Given the description of an element on the screen output the (x, y) to click on. 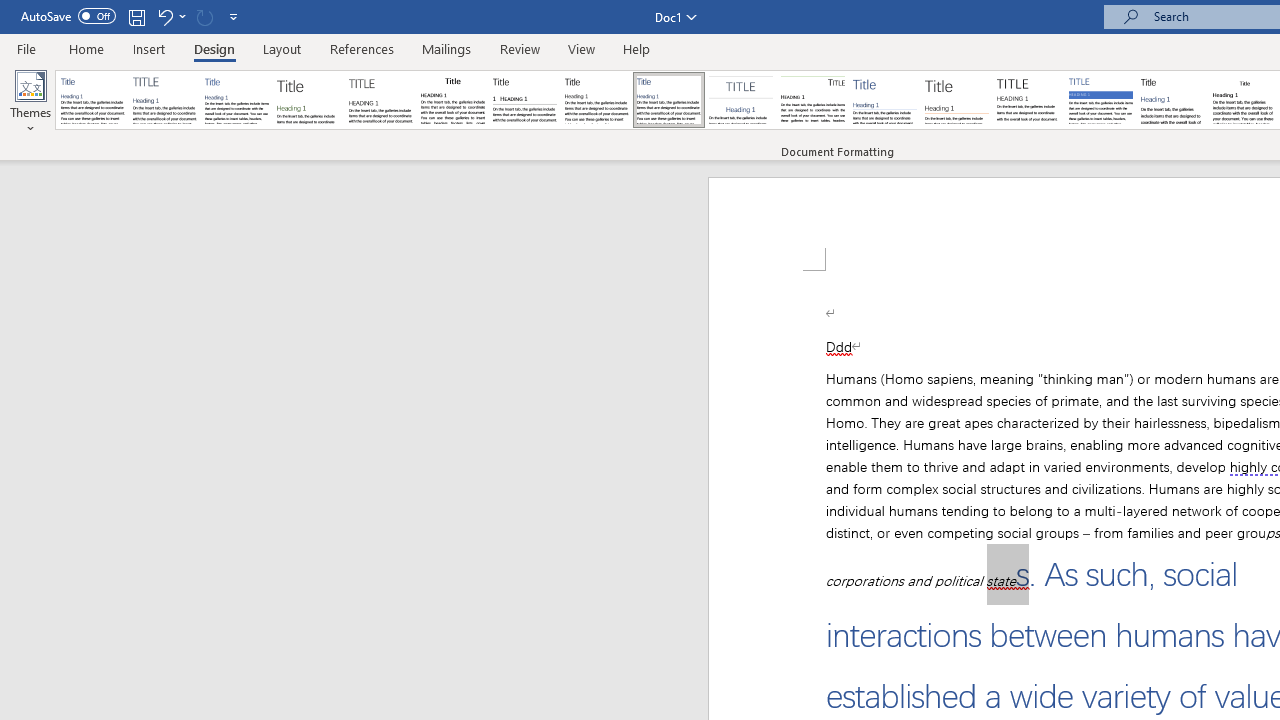
Lines (Simple) (884, 100)
Themes (30, 102)
Document (93, 100)
Black & White (Numbered) (524, 100)
